Given the description of an element on the screen output the (x, y) to click on. 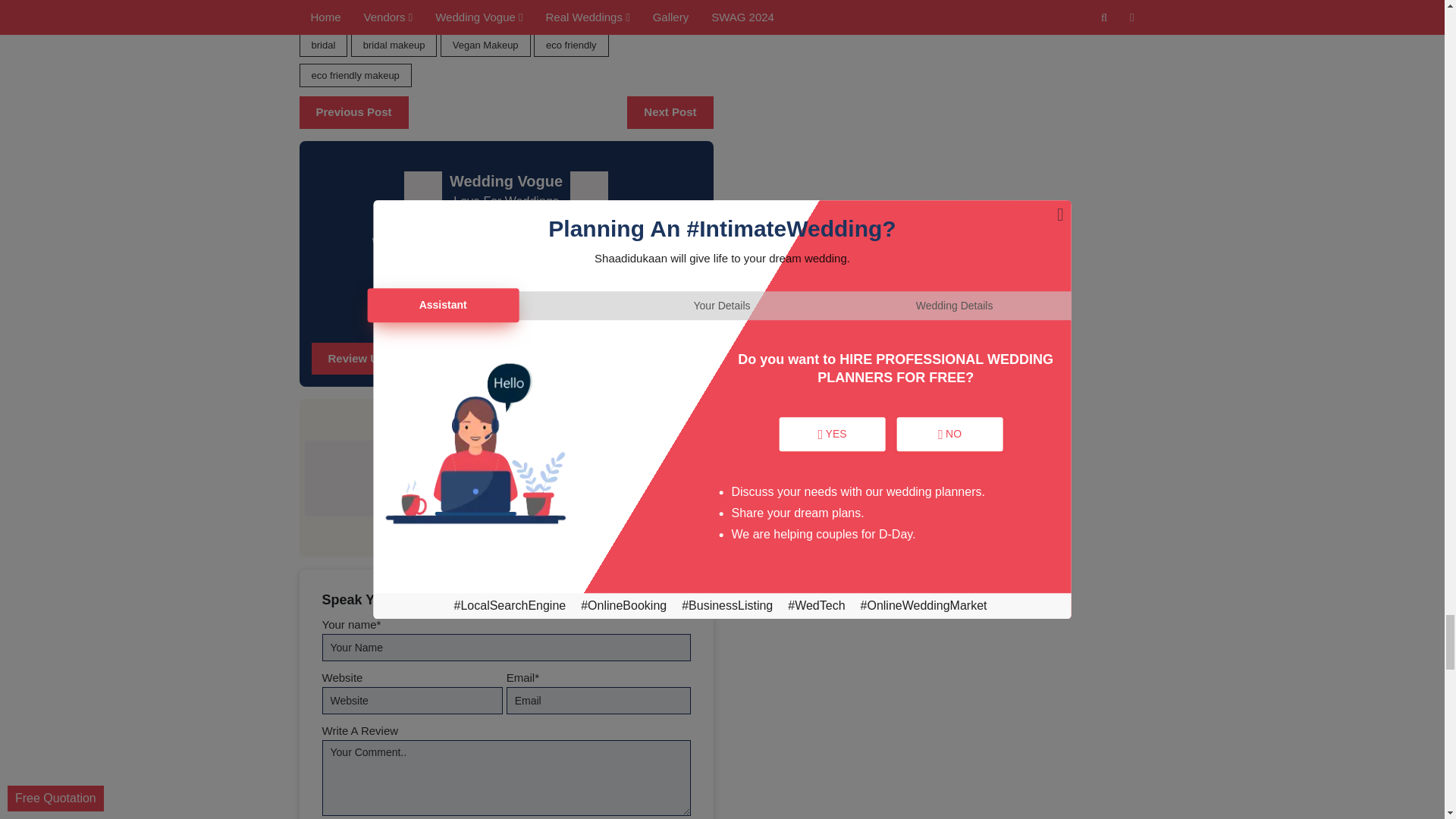
Shashank Gupta (444, 419)
Next Blogs (670, 112)
Previous Blogs (352, 112)
